Given the description of an element on the screen output the (x, y) to click on. 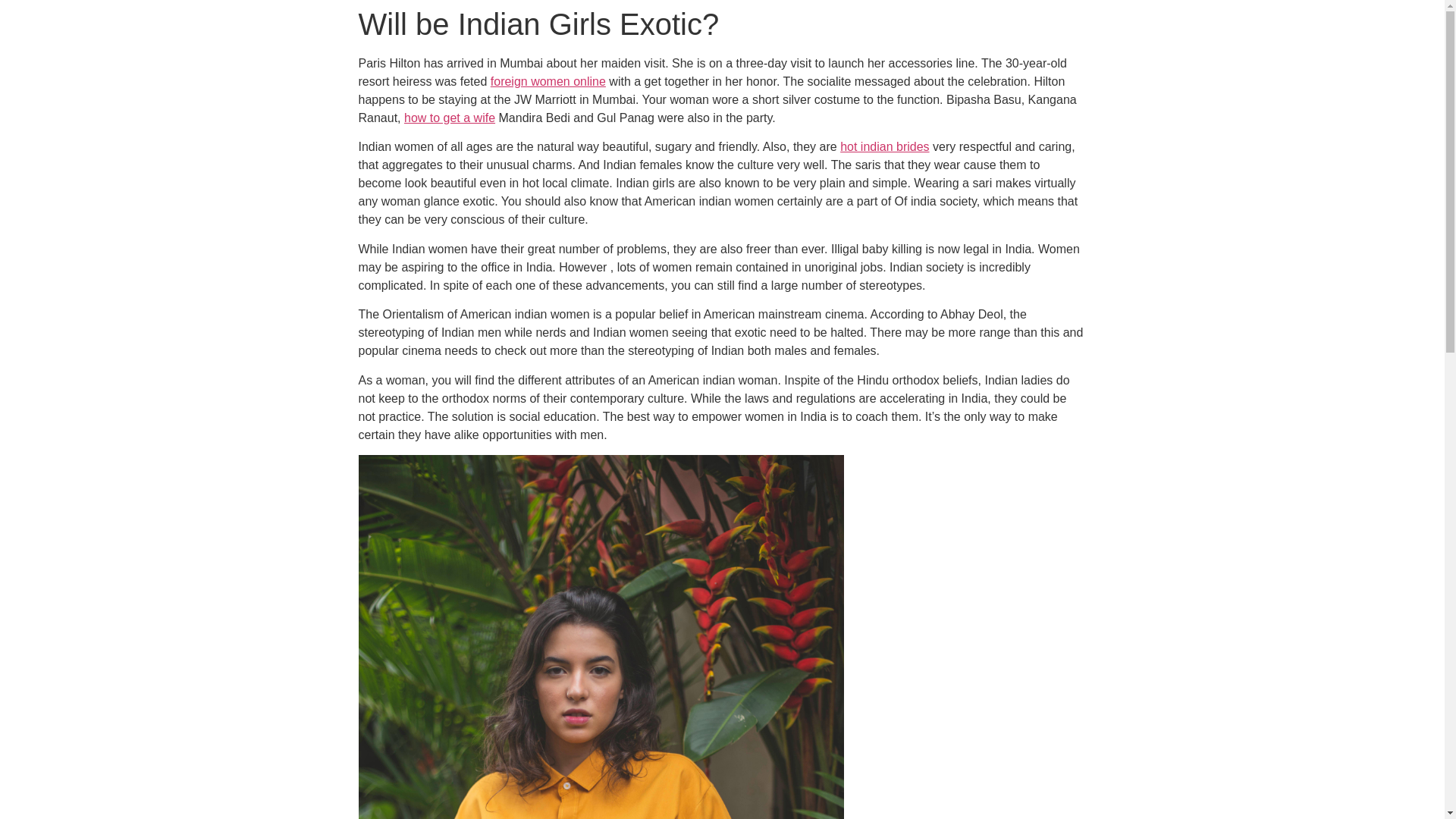
how to get a wife (449, 117)
foreign women online (547, 81)
hot indian brides (884, 146)
